Given the description of an element on the screen output the (x, y) to click on. 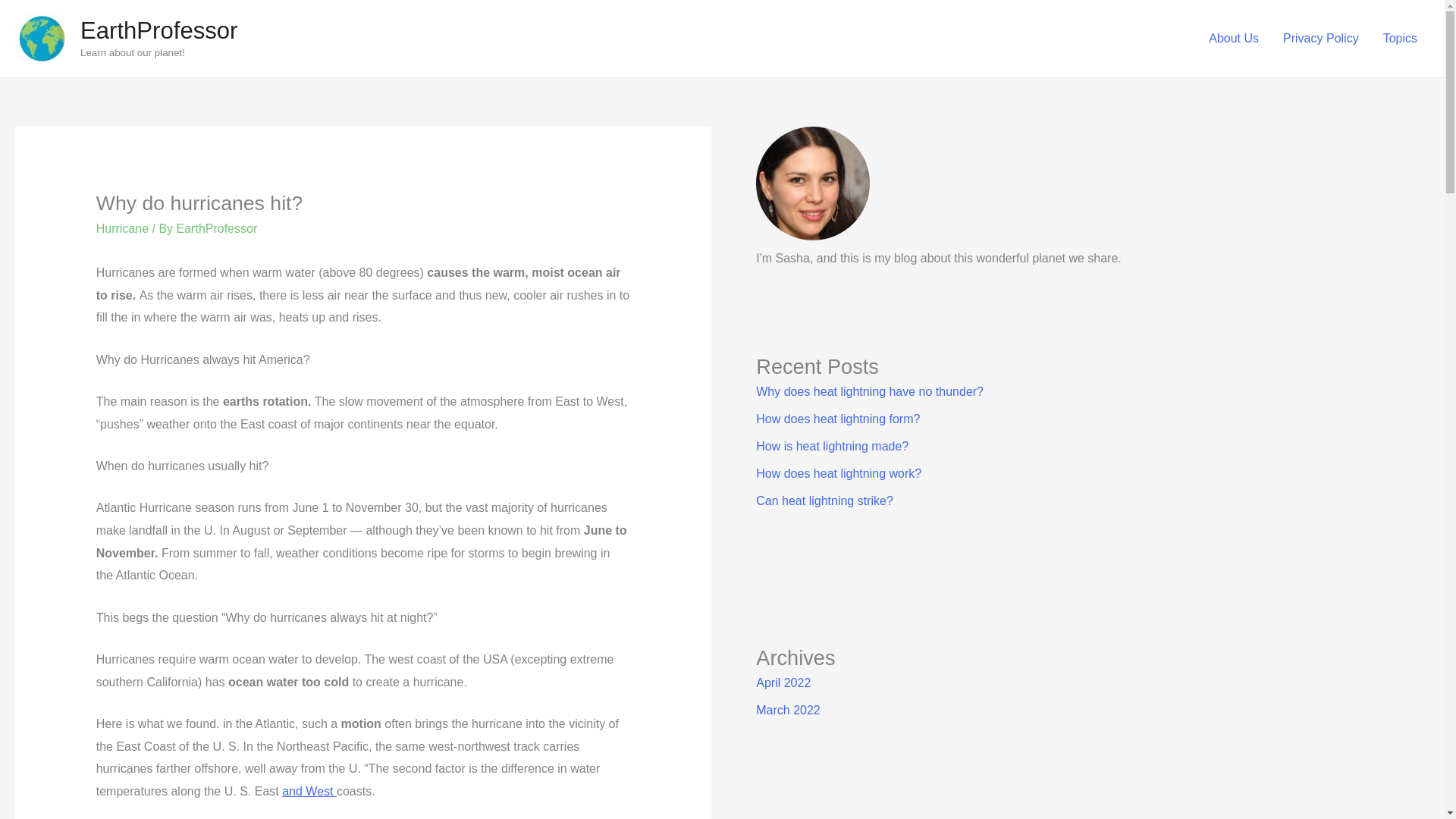
How does heat lightning form? (837, 418)
Topics (1400, 38)
EarthProfessor (158, 30)
and West (309, 790)
About Us (1233, 38)
Why does heat lightning have no thunder? (869, 391)
View all posts by EarthProfessor (216, 228)
Privacy Policy (1321, 38)
How does heat lightning work? (838, 472)
EarthProfessor (216, 228)
